Given the description of an element on the screen output the (x, y) to click on. 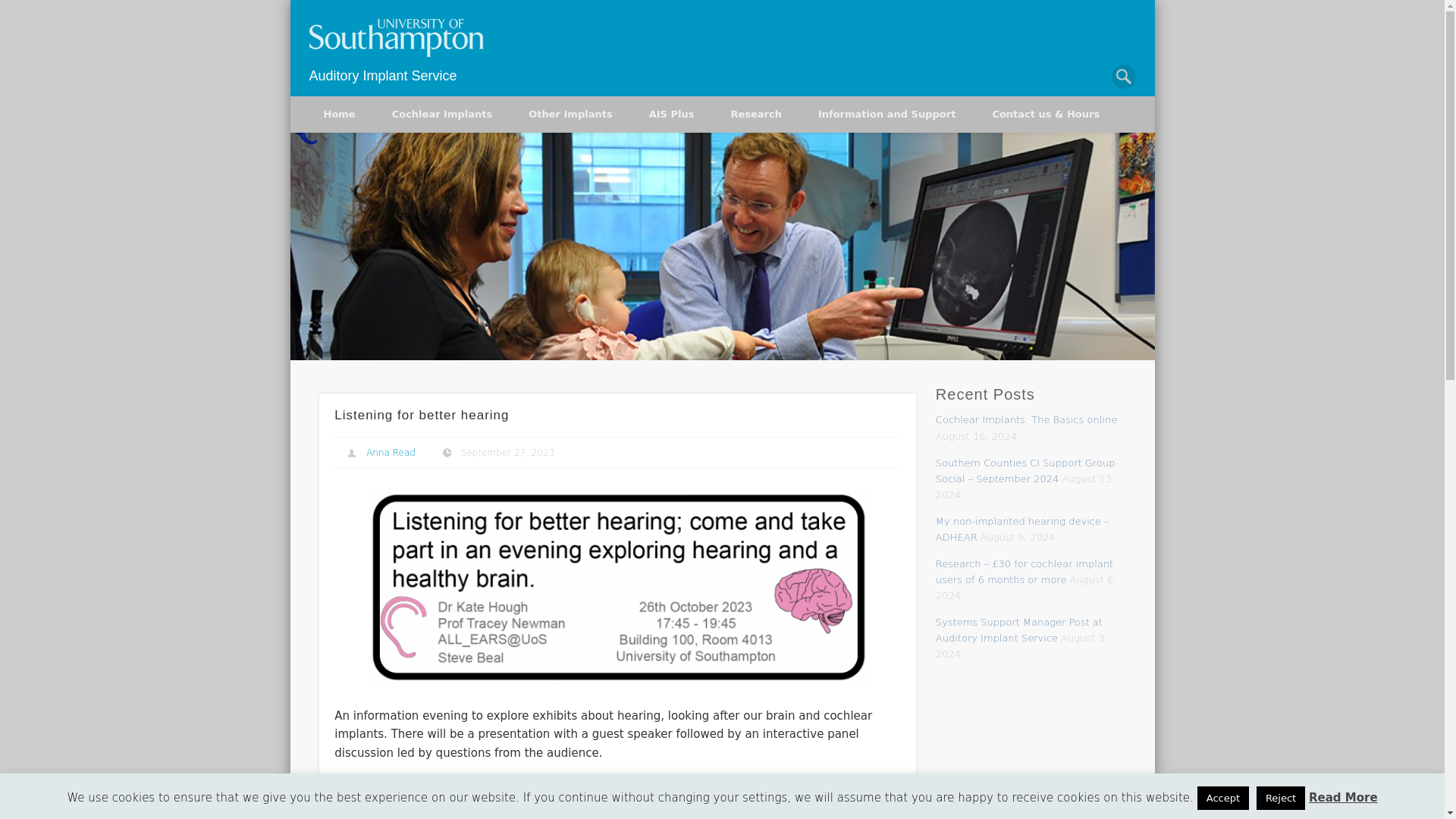
Posts by Anna Read (390, 452)
Home (338, 114)
Search (11, 7)
AIS Plus (671, 114)
Other Implants (570, 114)
Research (755, 114)
Cochlear Implants (442, 114)
